Given the description of an element on the screen output the (x, y) to click on. 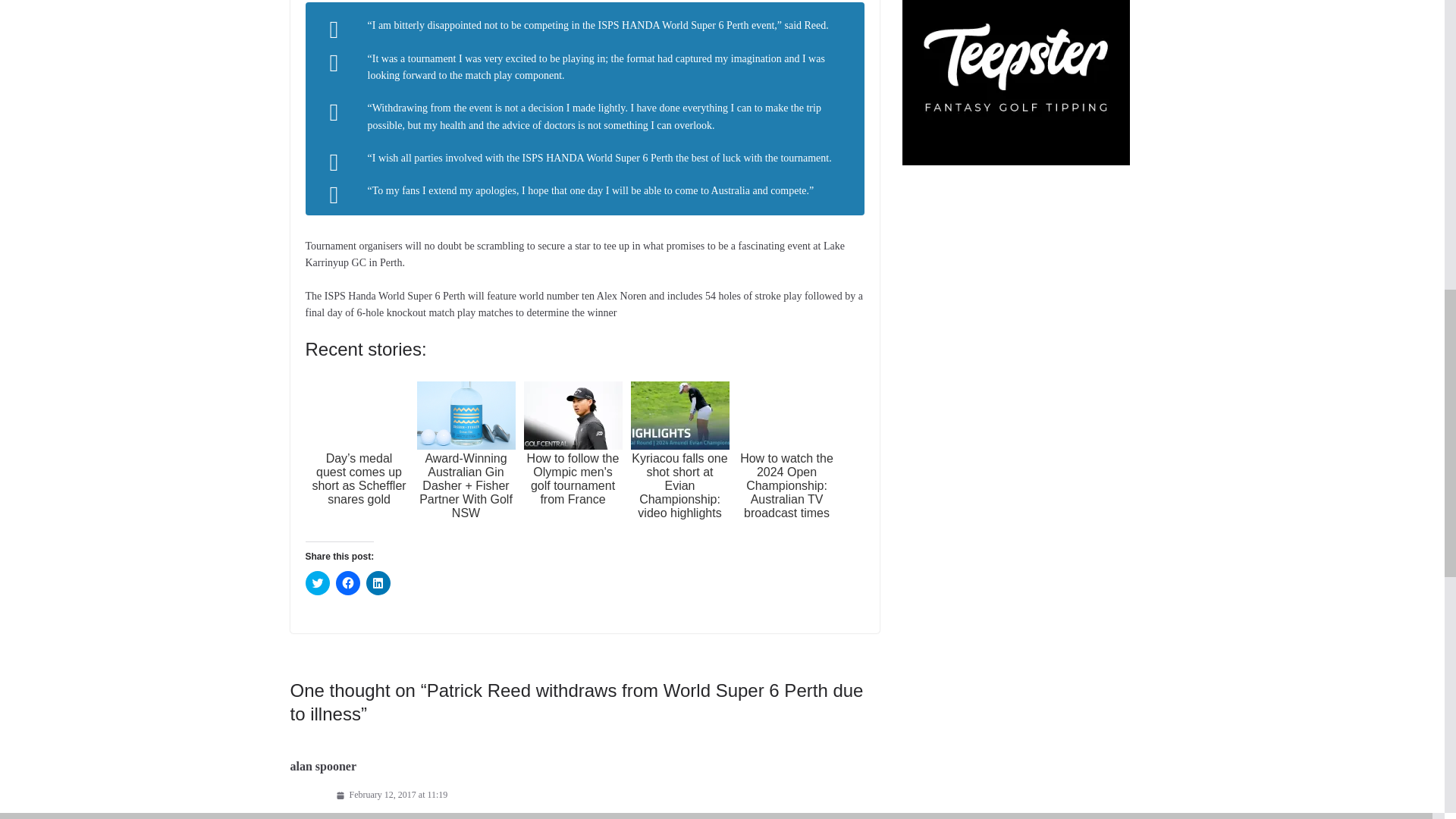
Click to share on Twitter (316, 582)
Click to share on Facebook (346, 582)
Click to share on LinkedIn (377, 582)
